Given the description of an element on the screen output the (x, y) to click on. 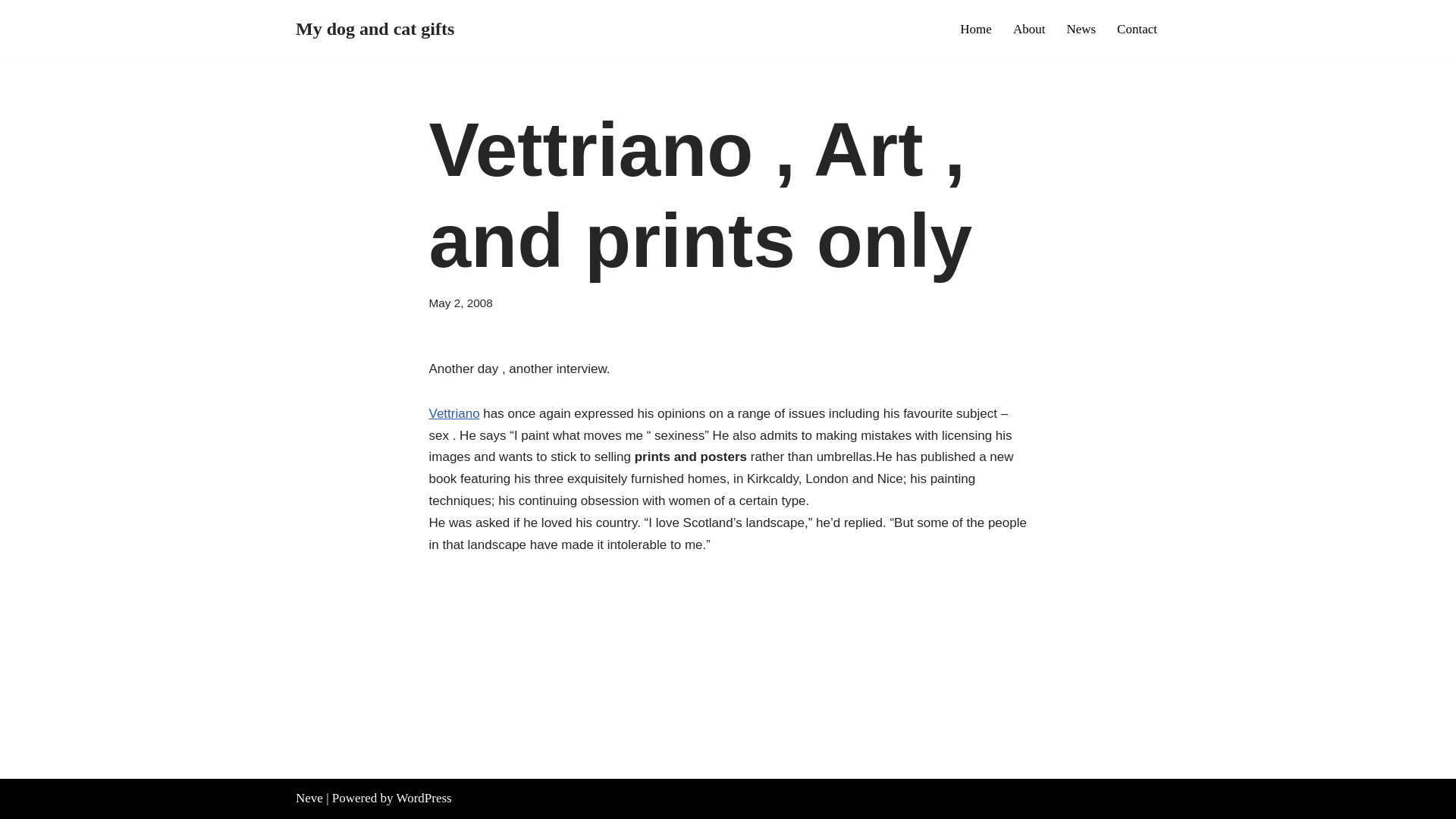
Home (975, 28)
Contact (1136, 28)
My dog and cat gifts (374, 29)
Skip to content (11, 31)
Neve (309, 798)
WordPress (423, 798)
Art prints from Vettriano (454, 413)
Vettriano (454, 413)
About (1029, 28)
News (1080, 28)
